Given the description of an element on the screen output the (x, y) to click on. 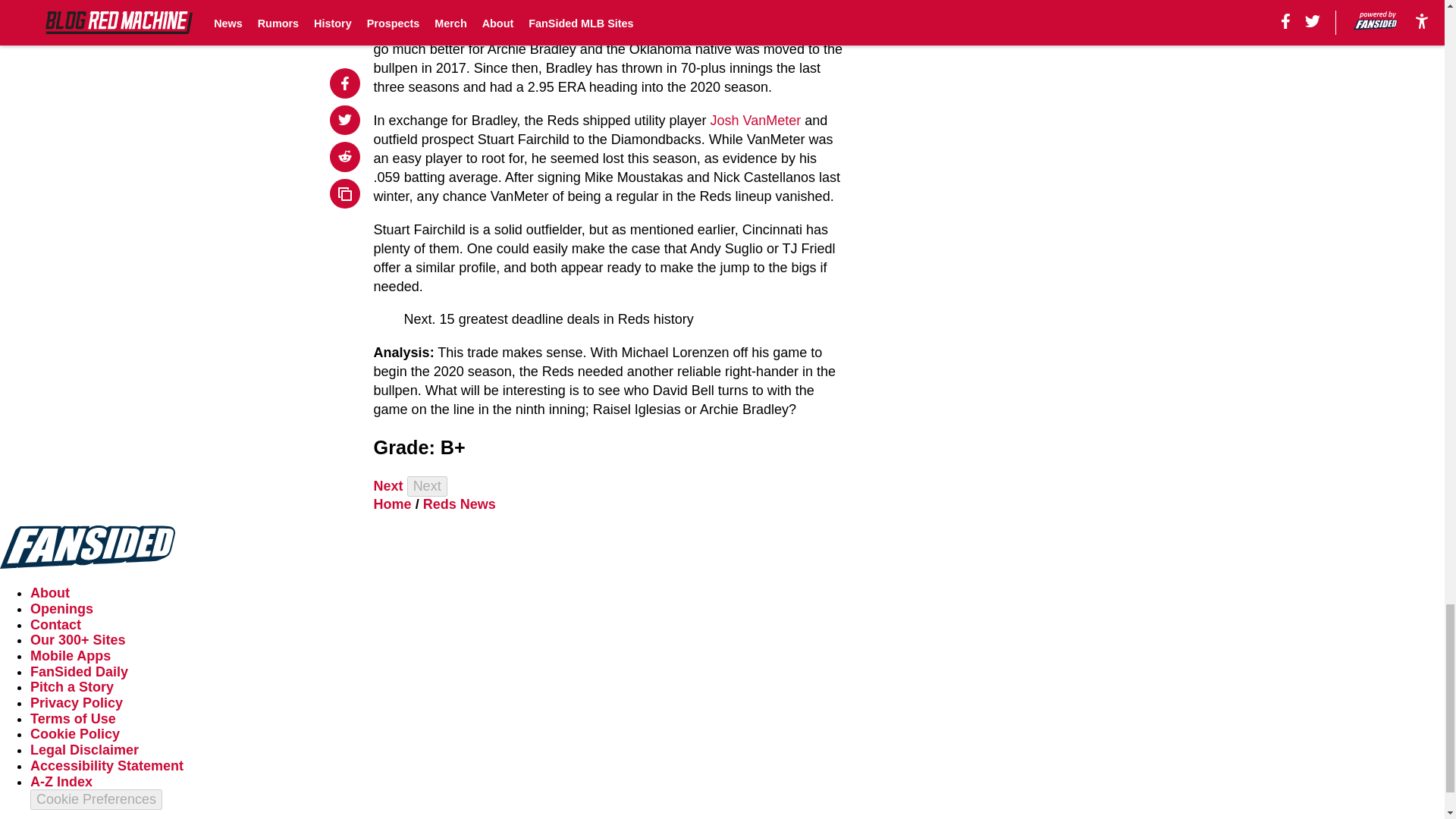
Next (426, 485)
Next (388, 485)
Josh VanMeter (756, 120)
Home (393, 503)
